Given the description of an element on the screen output the (x, y) to click on. 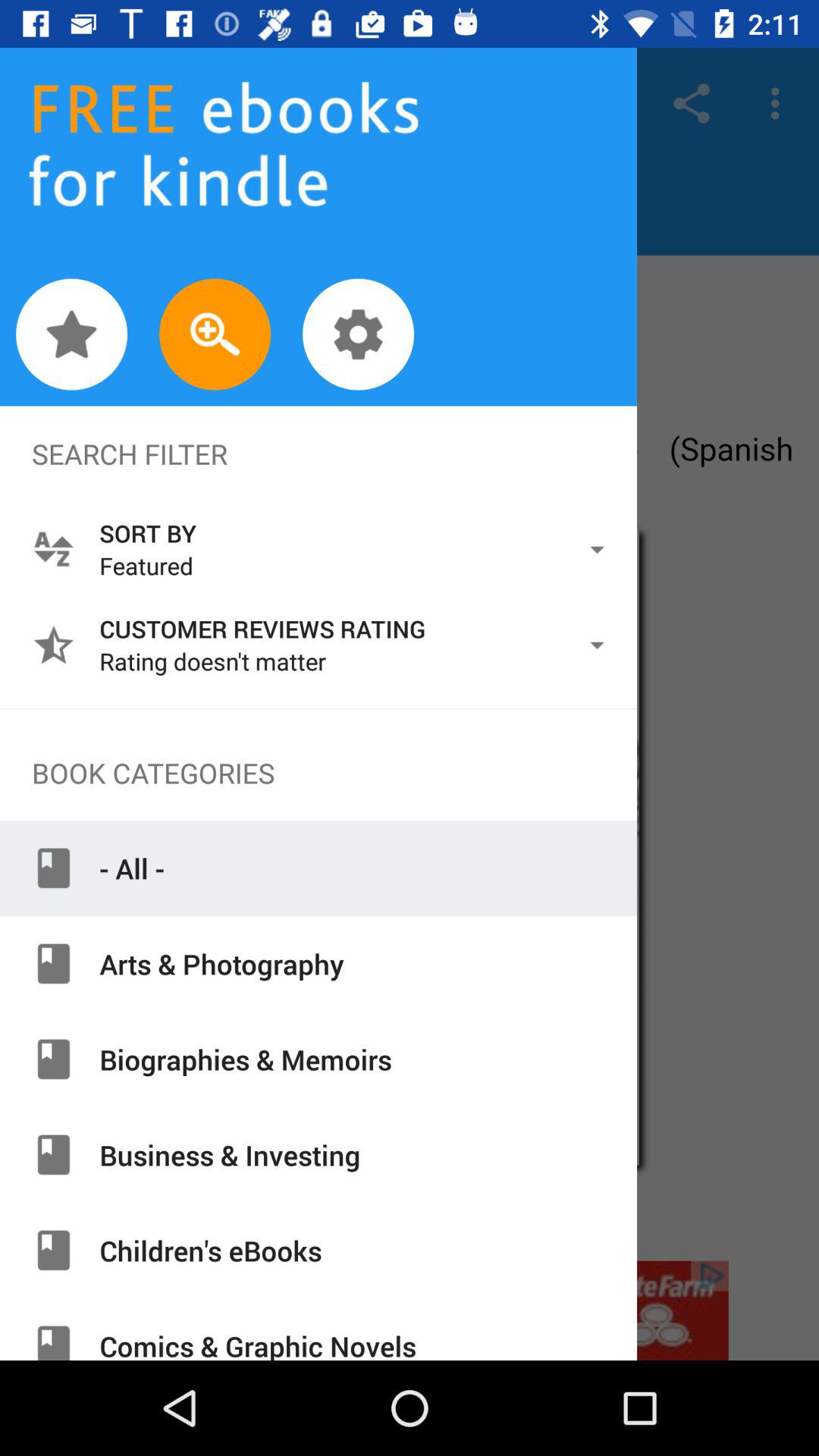
go to advertisement (409, 1310)
